Given the description of an element on the screen output the (x, y) to click on. 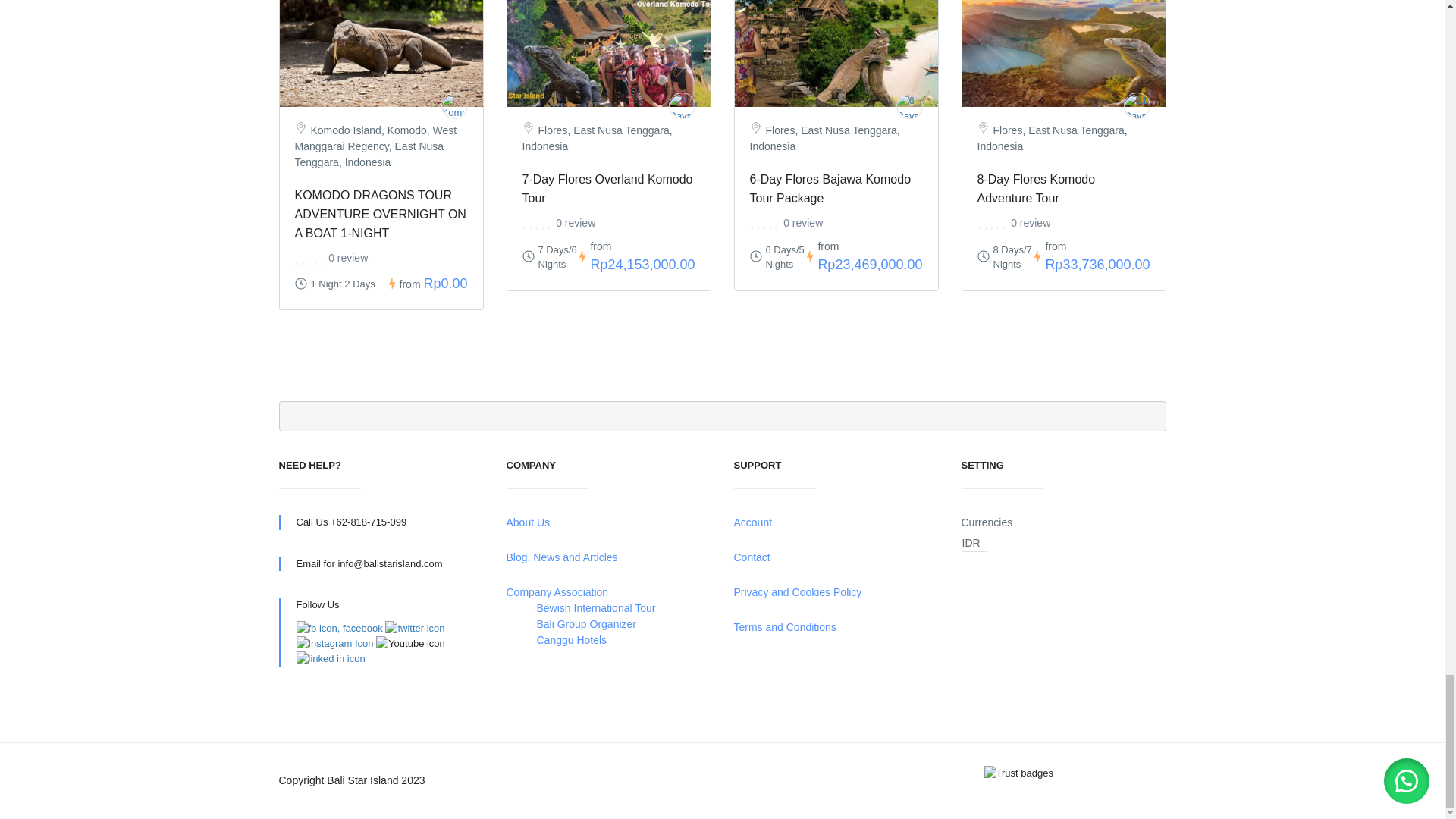
Bali Star Island (681, 105)
Linked in Bali Star Island - Bali Star Island (330, 658)
Bali Star Island (1137, 105)
Bali Star Island (454, 105)
Youtube Bali Star Island - Bali Star Island (410, 643)
Facebook Fan Page Bali Star Island - Bali Star Island (338, 628)
Bali Star Island (909, 105)
Twitter Bali Star Island - Bali Star Island (414, 628)
Instagram Bali Star Island - Bali Star Island (333, 643)
